Given the description of an element on the screen output the (x, y) to click on. 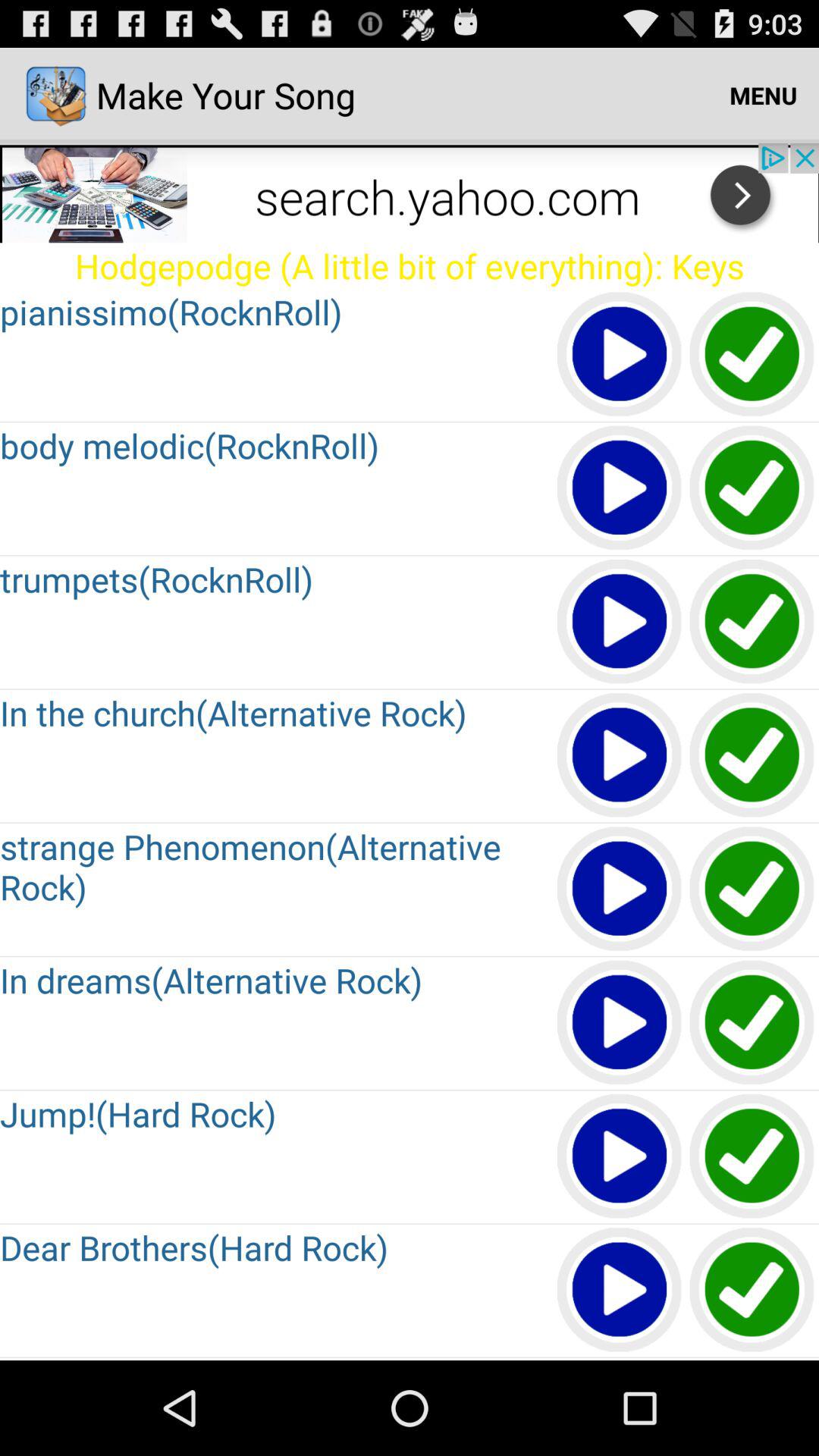
select page (752, 354)
